Given the description of an element on the screen output the (x, y) to click on. 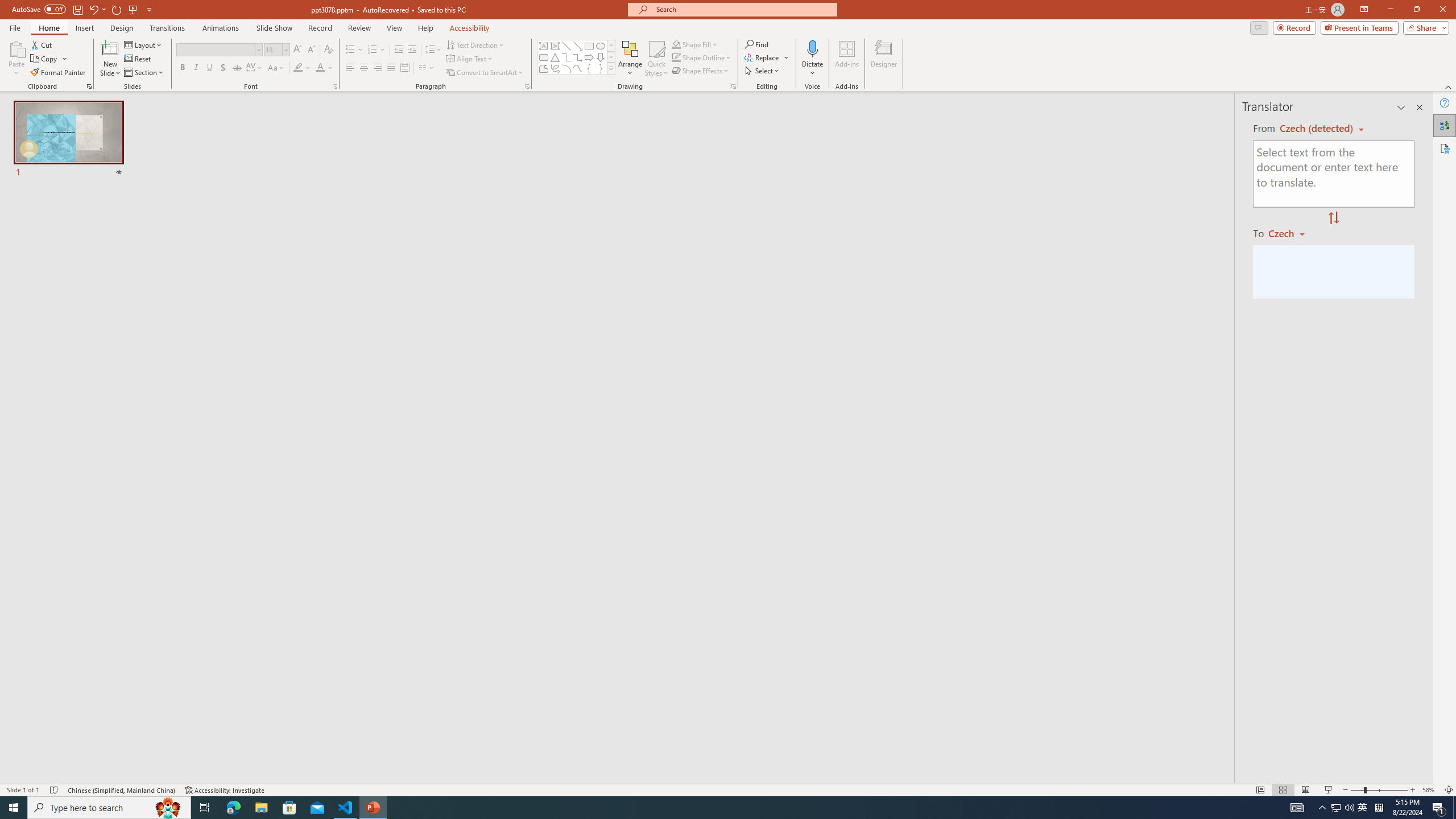
Swap "from" and "to" languages. (1333, 218)
Shape Fill Dark Green, Accent 2 (675, 44)
